Given the description of an element on the screen output the (x, y) to click on. 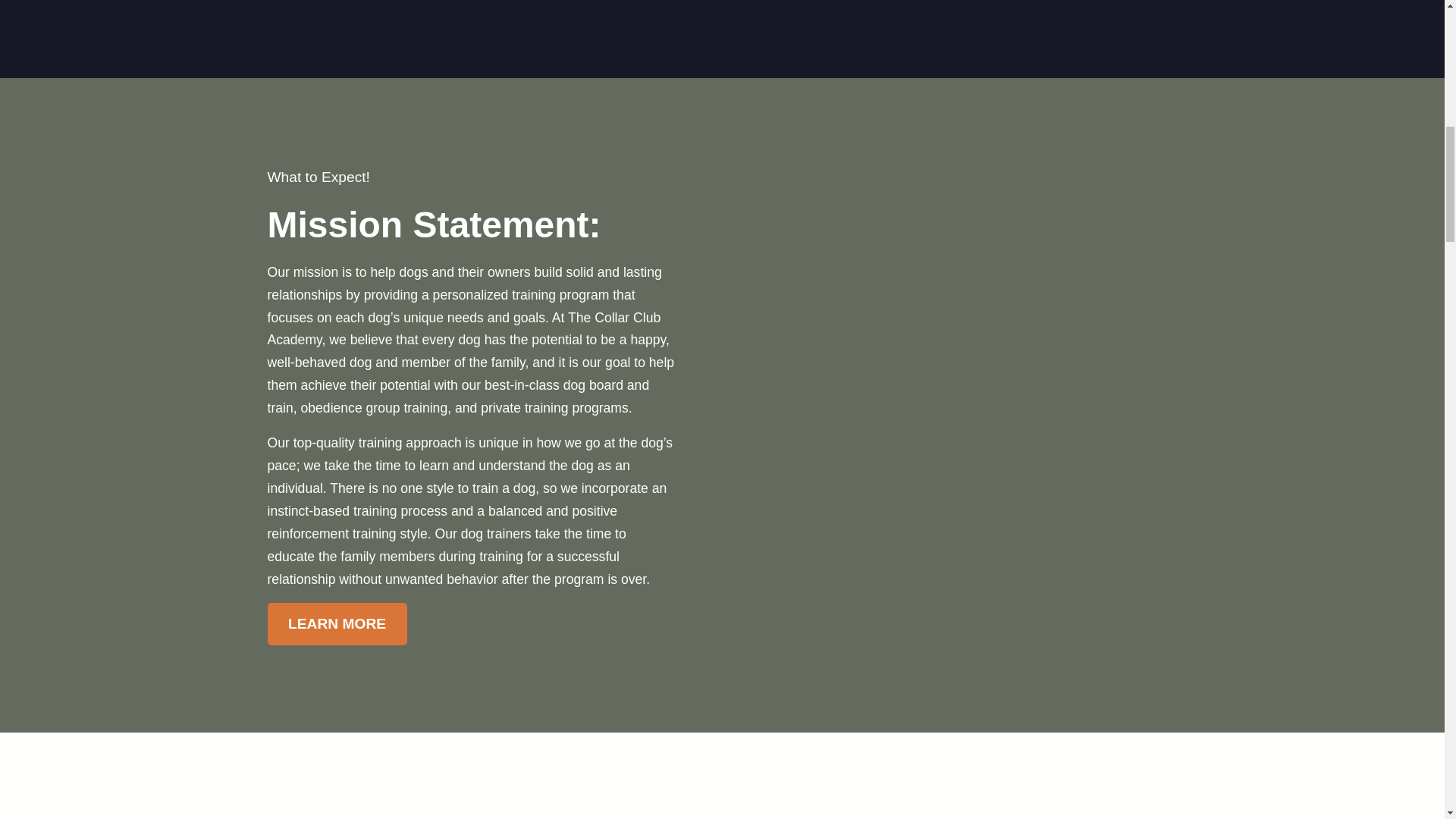
LEARN MORE (336, 623)
